Given the description of an element on the screen output the (x, y) to click on. 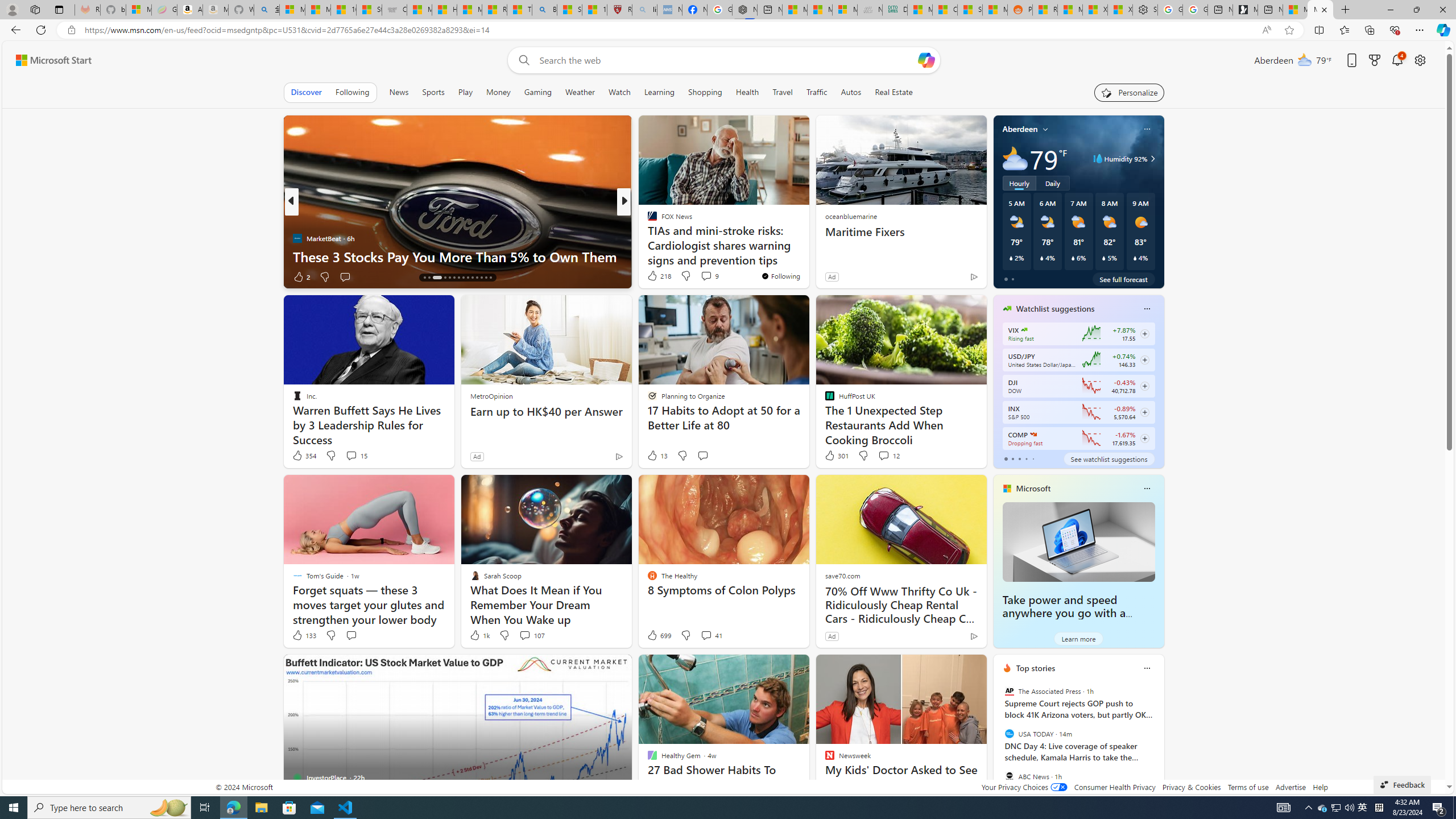
My location (1045, 128)
Money (498, 92)
Microsoft Is Bringing Recall Back to Windows 11 (807, 256)
AutomationID: tab-25 (476, 277)
View comments 167 Comment (703, 276)
Consumer Health Privacy (1115, 786)
Play (465, 92)
